Given the description of an element on the screen output the (x, y) to click on. 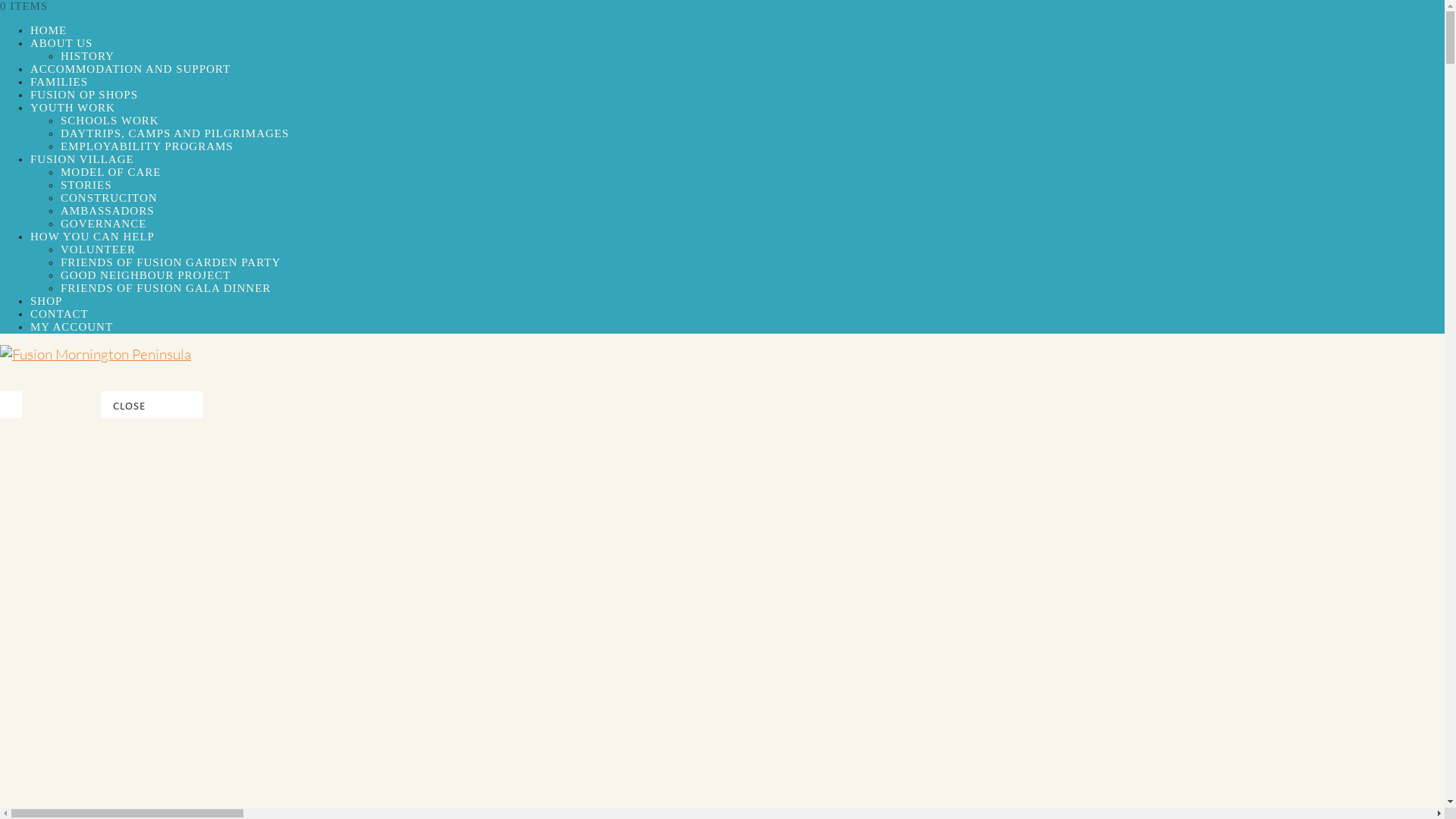
SHOP Element type: text (46, 300)
CONTACT Element type: text (59, 313)
AMBASSADORS Element type: text (107, 210)
FRIENDS OF FUSION GALA DINNER Element type: text (165, 288)
DAYTRIPS, CAMPS AND PILGRIMAGES Element type: text (174, 133)
HOW YOU CAN HELP Element type: text (92, 236)
HOME Element type: text (48, 30)
GOOD NEIGHBOUR PROJECT Element type: text (145, 275)
EMPLOYABILITY PROGRAMS Element type: text (146, 146)
MODEL OF CARE Element type: text (110, 172)
VOLUNTEER Element type: text (97, 249)
SCHOOLS WORK Element type: text (109, 120)
MY ACCOUNT Element type: text (71, 326)
FRIENDS OF FUSION GARDEN PARTY Element type: text (170, 262)
ABOUT US Element type: text (61, 43)
STORIES Element type: text (86, 184)
CONSTRUCITON Element type: text (108, 197)
0 ITEMS Element type: text (23, 6)
FAMILIES Element type: text (58, 81)
ACCOMMODATION AND SUPPORT Element type: text (130, 68)
YOUTH WORK Element type: text (72, 107)
FUSION VILLAGE Element type: text (82, 159)
GOVERNANCE Element type: text (103, 223)
HISTORY Element type: text (87, 56)
FUSION OP SHOPS Element type: text (84, 94)
